Given the description of an element on the screen output the (x, y) to click on. 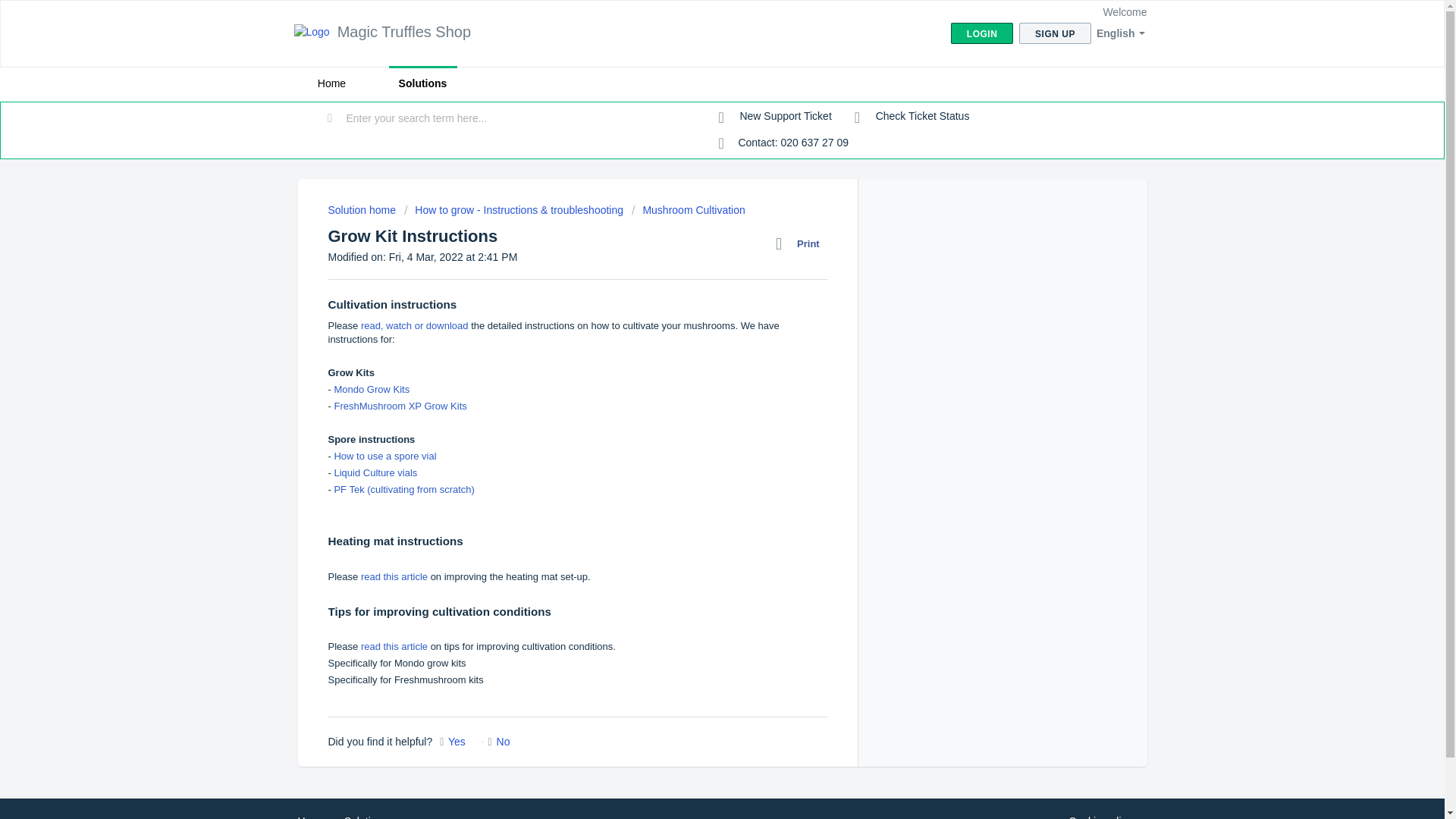
Mushroom Cultivation (688, 209)
read, watch or download (414, 325)
Why we love Cookies (1099, 816)
read this article (394, 576)
SIGN UP (1054, 33)
read this article  (395, 645)
Print this Article (801, 243)
Mondo Grow Kits (371, 389)
LOGIN (981, 33)
Solution home (362, 209)
Check Ticket Status (911, 116)
Freshmushroom kits (438, 679)
Solutions (422, 83)
FreshMushroom XP Grow Kits (399, 405)
Print (801, 243)
